Given the description of an element on the screen output the (x, y) to click on. 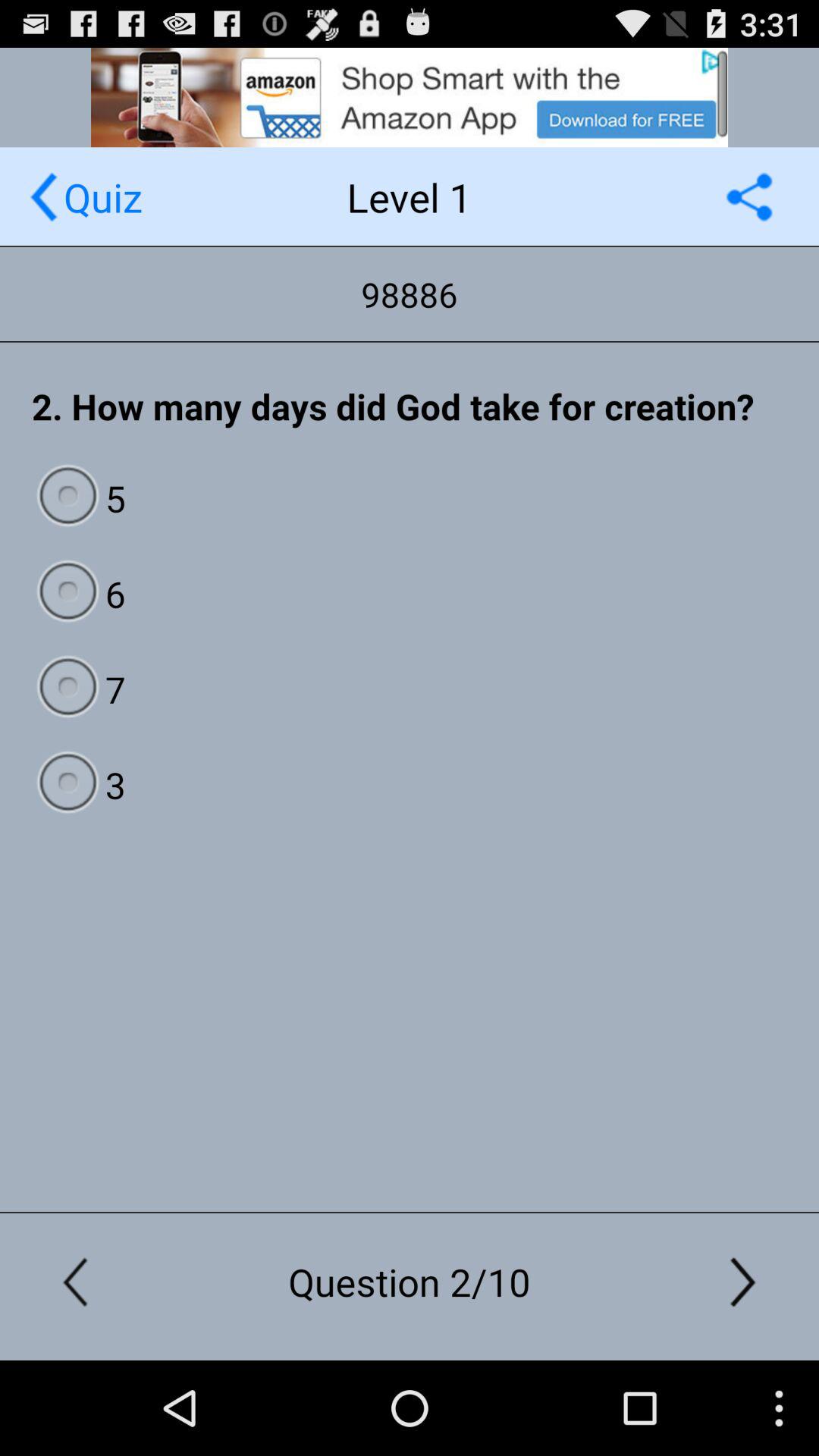
click on amazon shopping advertisement (409, 97)
